Given the description of an element on the screen output the (x, y) to click on. 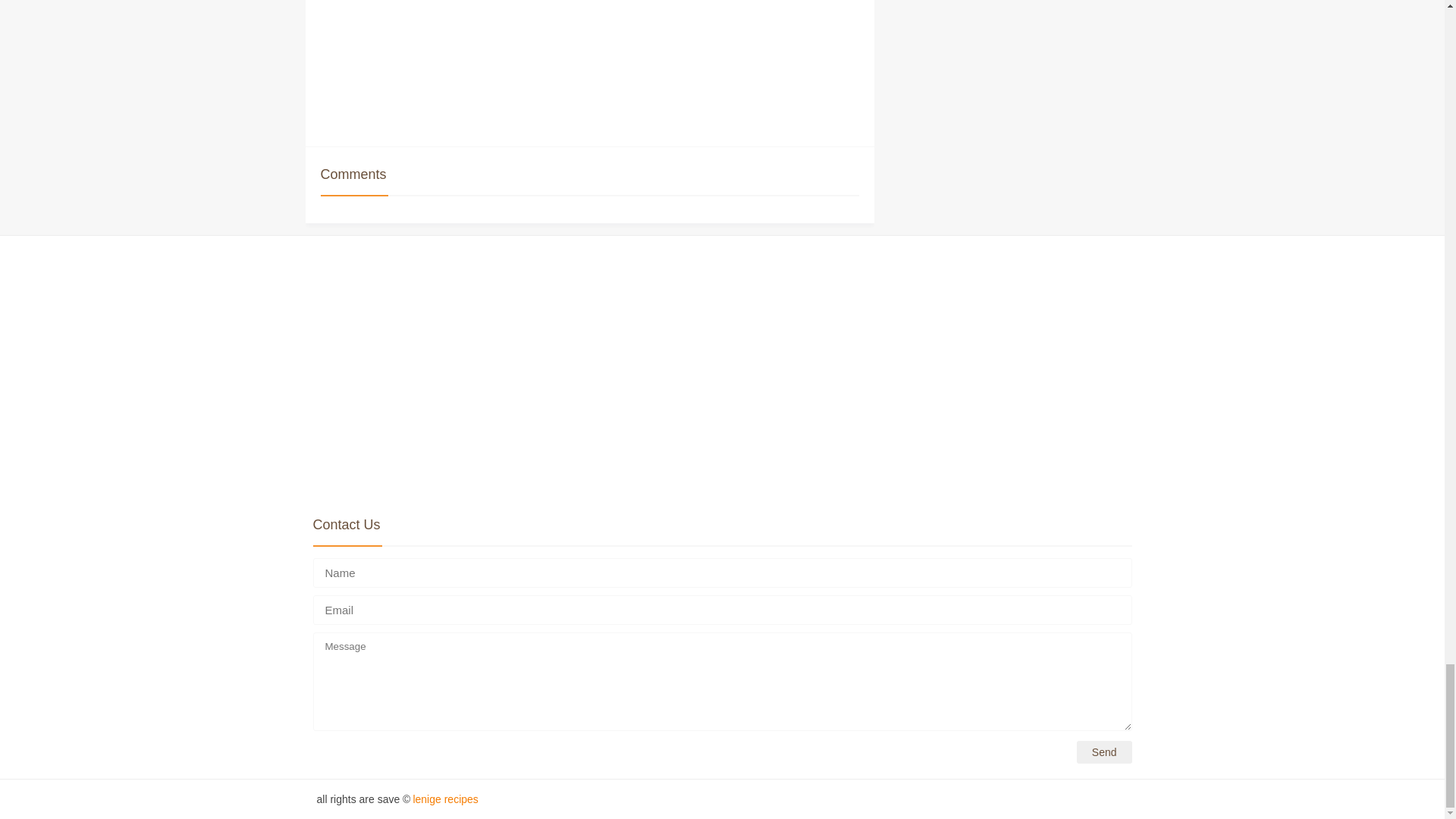
Send (1104, 752)
lenige recipes (444, 799)
